Given the description of an element on the screen output the (x, y) to click on. 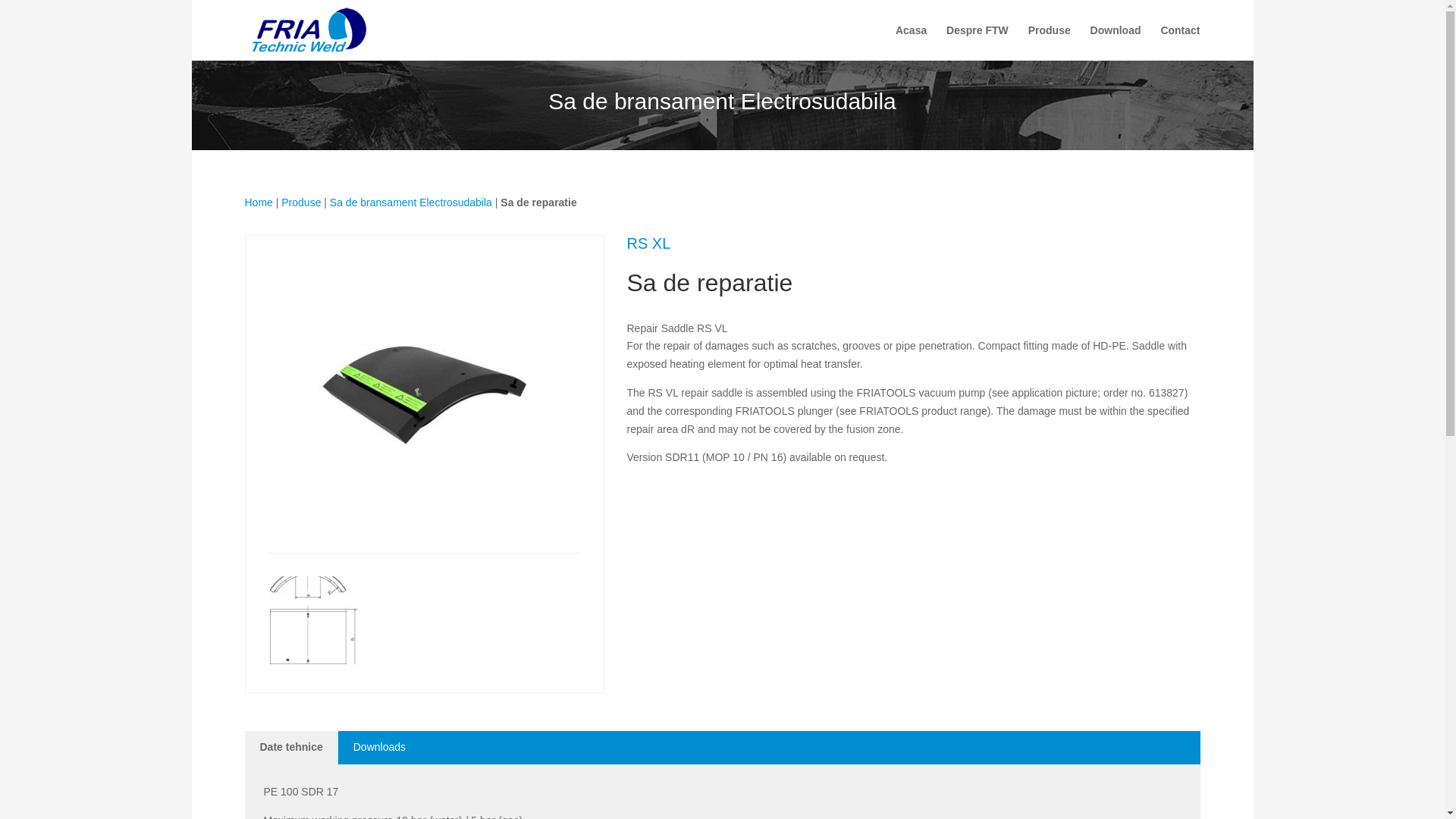
Sa de bransament Electrosudabila (411, 202)
Download (1115, 42)
Date tehnice (290, 747)
Home (258, 202)
Sa de reparatie (538, 202)
Produse (300, 202)
Contact (1179, 42)
Produse (300, 202)
Sa de bransament Electrosudabila (411, 202)
Produse (1048, 42)
Home (258, 202)
Downloads (378, 747)
Despre FTW (977, 42)
